Given the description of an element on the screen output the (x, y) to click on. 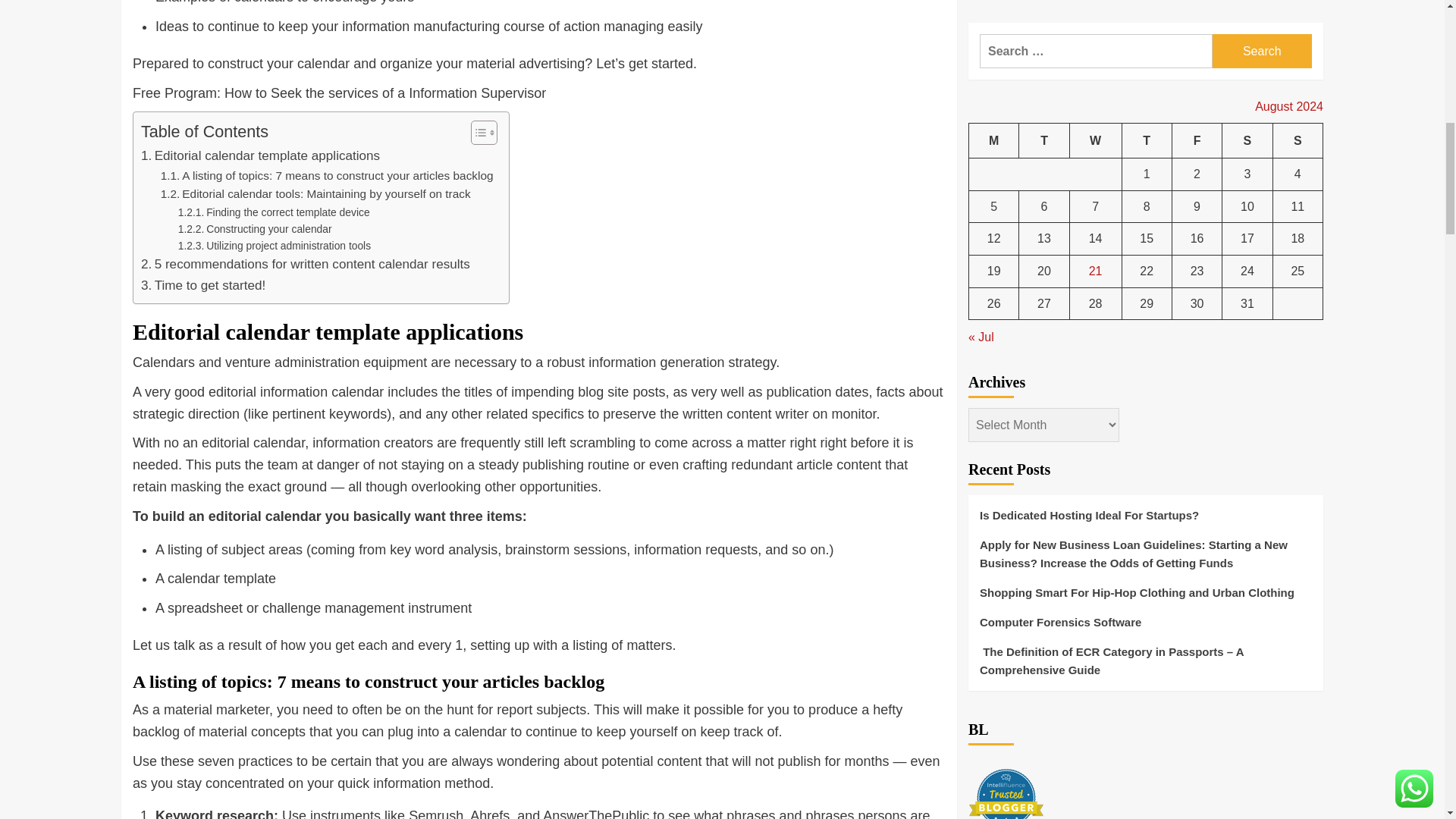
5 recommendations for written content calendar results (305, 263)
5 recommendations for written content calendar results (305, 263)
Utilizing project administration tools (274, 245)
Time to get started! (202, 285)
Editorial calendar template applications (260, 155)
Constructing your calendar (254, 228)
Editorial calendar template applications (260, 155)
Constructing your calendar (254, 228)
